Given the description of an element on the screen output the (x, y) to click on. 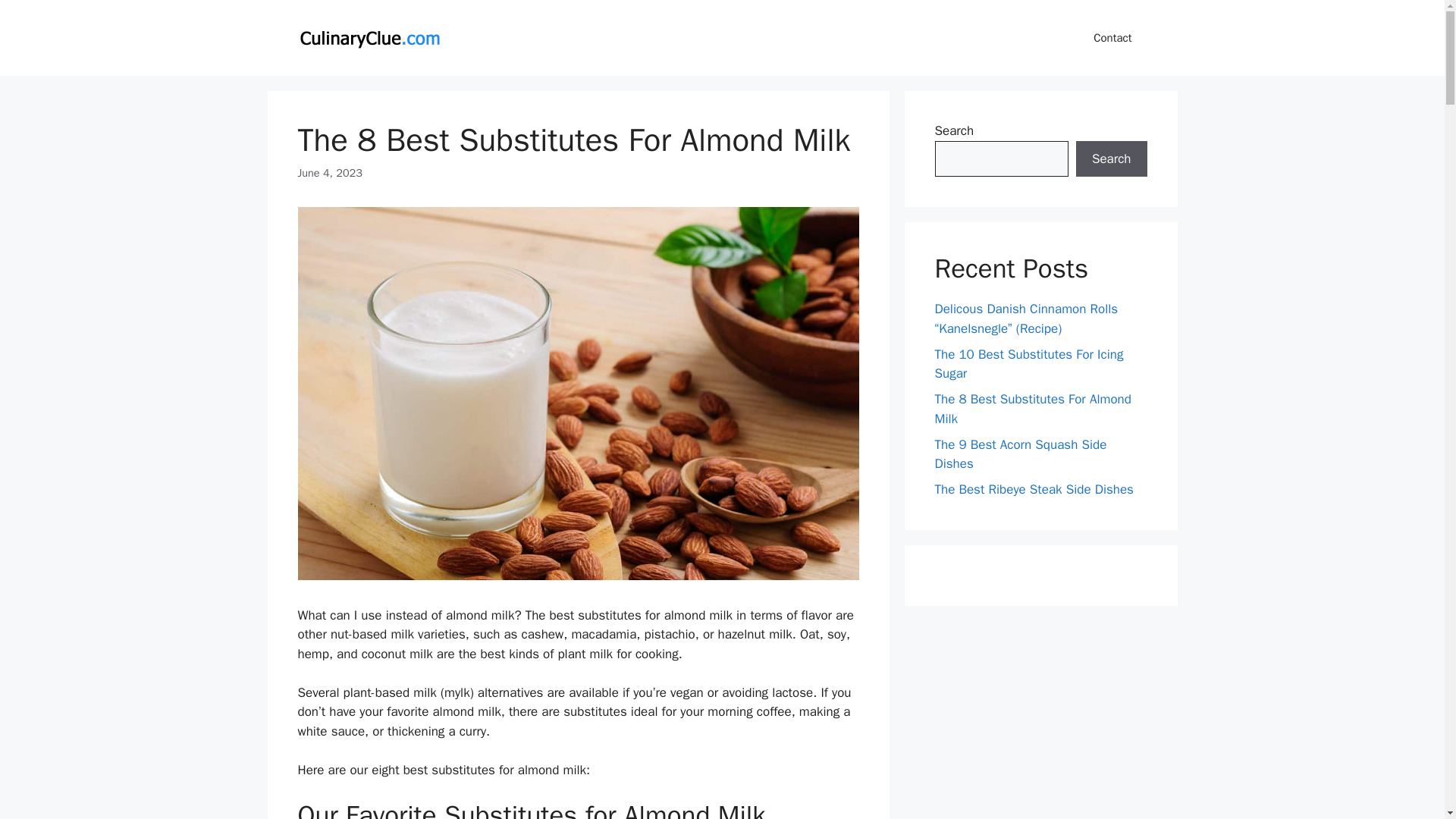
Search (1111, 158)
The Best Ribeye Steak Side Dishes (1033, 489)
CulinaryClue.com (369, 37)
Contact (1112, 37)
The 8 Best Substitutes For Almond Milk (1032, 408)
The 9 Best Acorn Squash Side Dishes (1020, 454)
The 10 Best Substitutes For Icing Sugar (1028, 363)
CulinaryClue.com (369, 36)
